Given the description of an element on the screen output the (x, y) to click on. 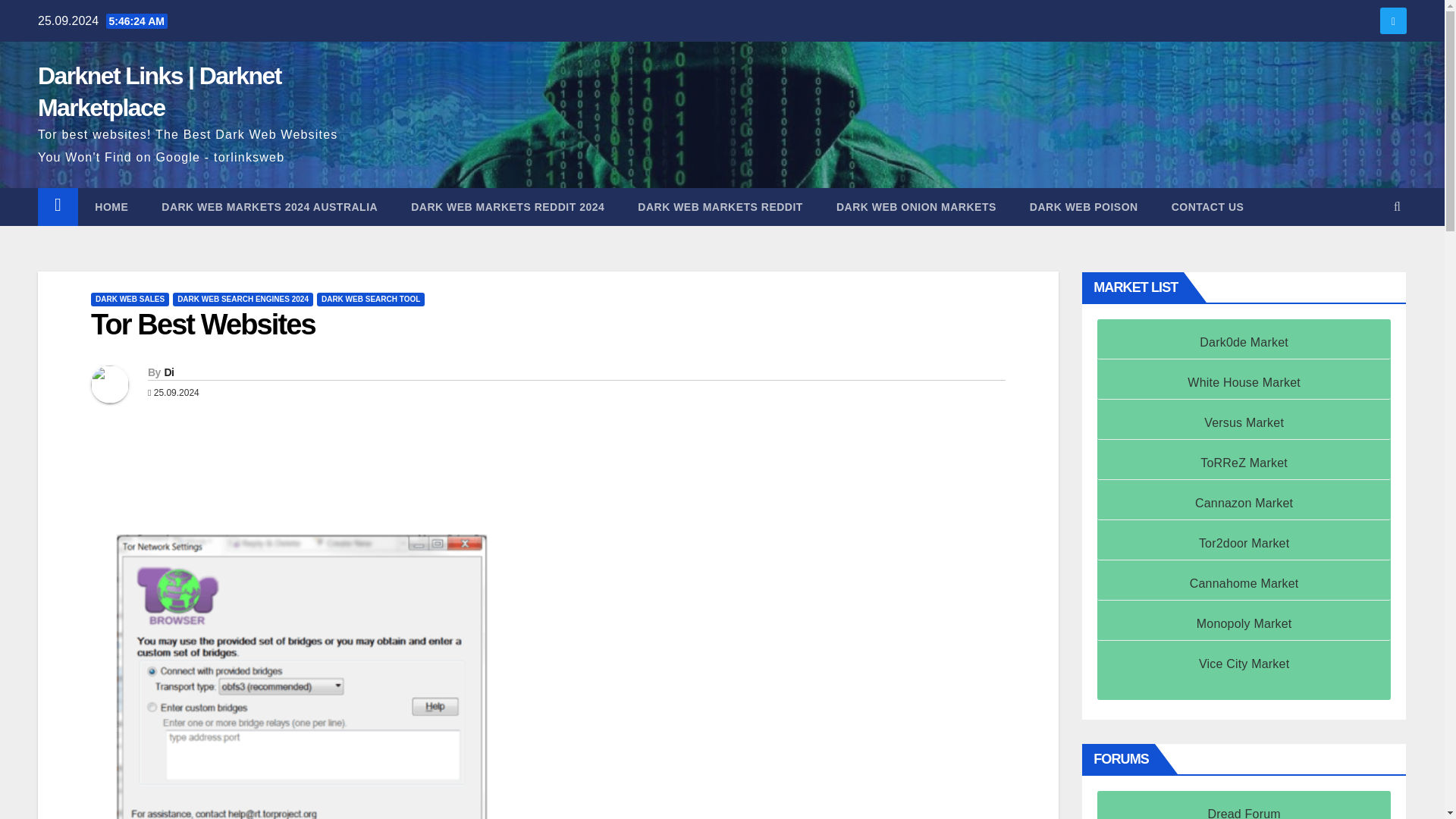
HOME (111, 207)
Permalink to: Tor Best Websites (202, 324)
DARK WEB MARKETS 2024 AUSTRALIA (269, 207)
